Given the description of an element on the screen output the (x, y) to click on. 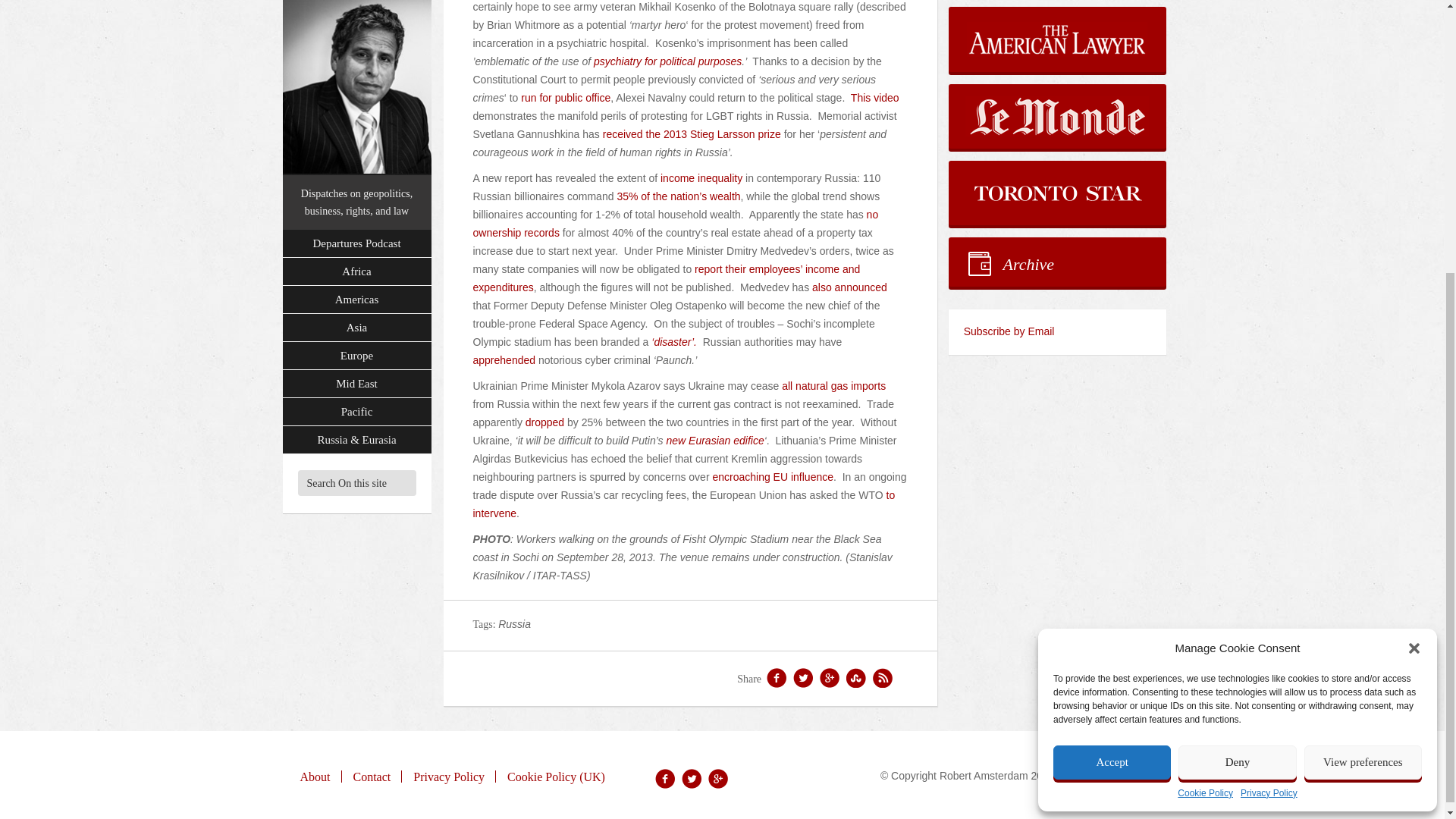
Accept (1111, 356)
received the 2013 Stieg Larsson prize (691, 133)
Pacific (356, 108)
Privacy Policy (1268, 387)
run for public office (565, 97)
Asia (356, 23)
Deny (1236, 356)
income inequality (701, 177)
Americas (356, 4)
Mid East (356, 80)
Subscribe to the Robert Amsterdam feed by email (1057, 331)
psychiatry for political purposes (667, 61)
Cookie Policy (1205, 387)
View preferences (1363, 356)
This video (874, 97)
